Given the description of an element on the screen output the (x, y) to click on. 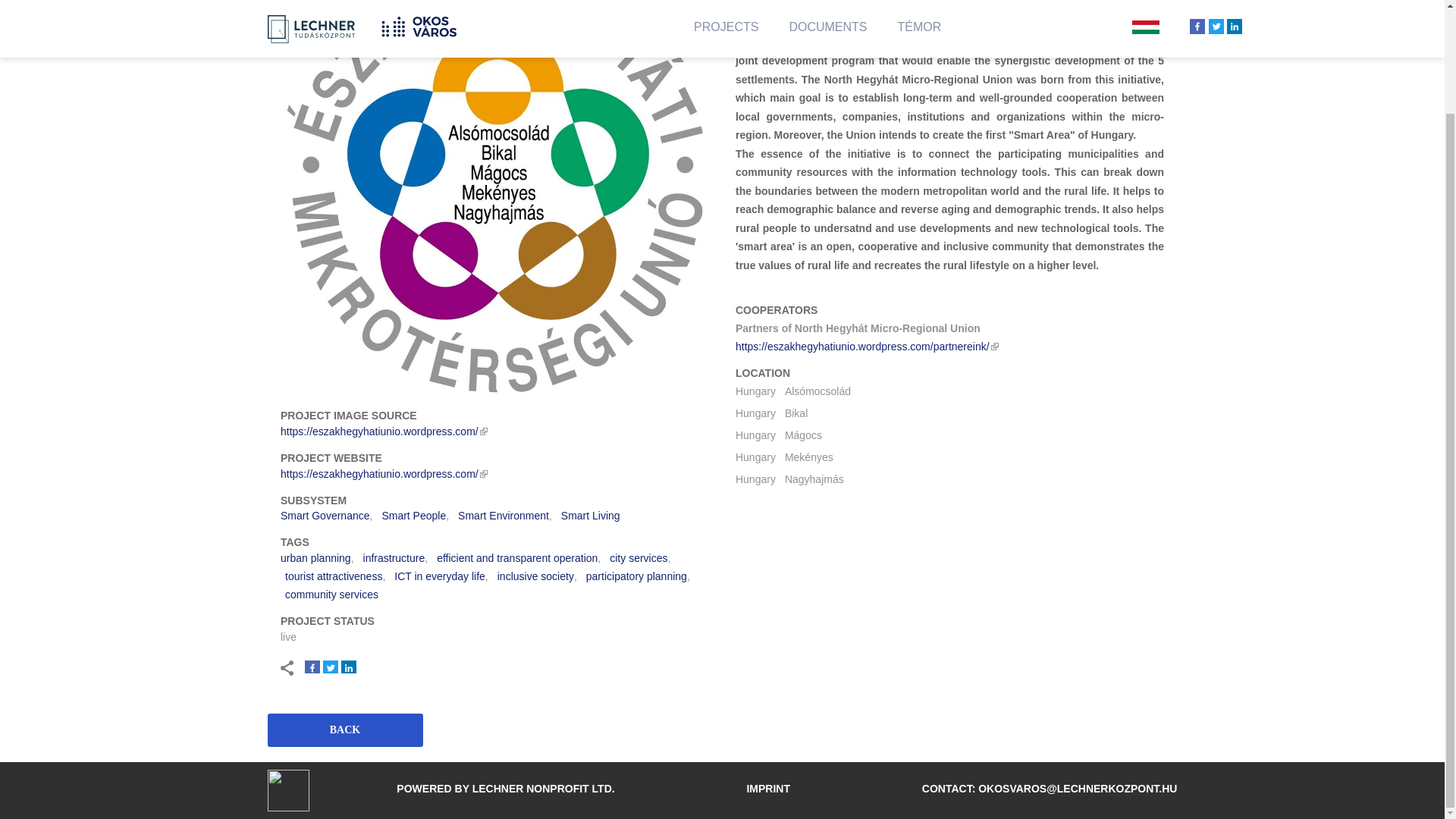
community services (331, 594)
ICT in everyday life (439, 576)
IMPRINT (767, 788)
efficient and transparent operation (516, 558)
infrastructure (393, 558)
participatory planning (636, 576)
Share on Facebook (312, 667)
Smart Living (590, 515)
city services (638, 558)
Smart People (413, 515)
